Given the description of an element on the screen output the (x, y) to click on. 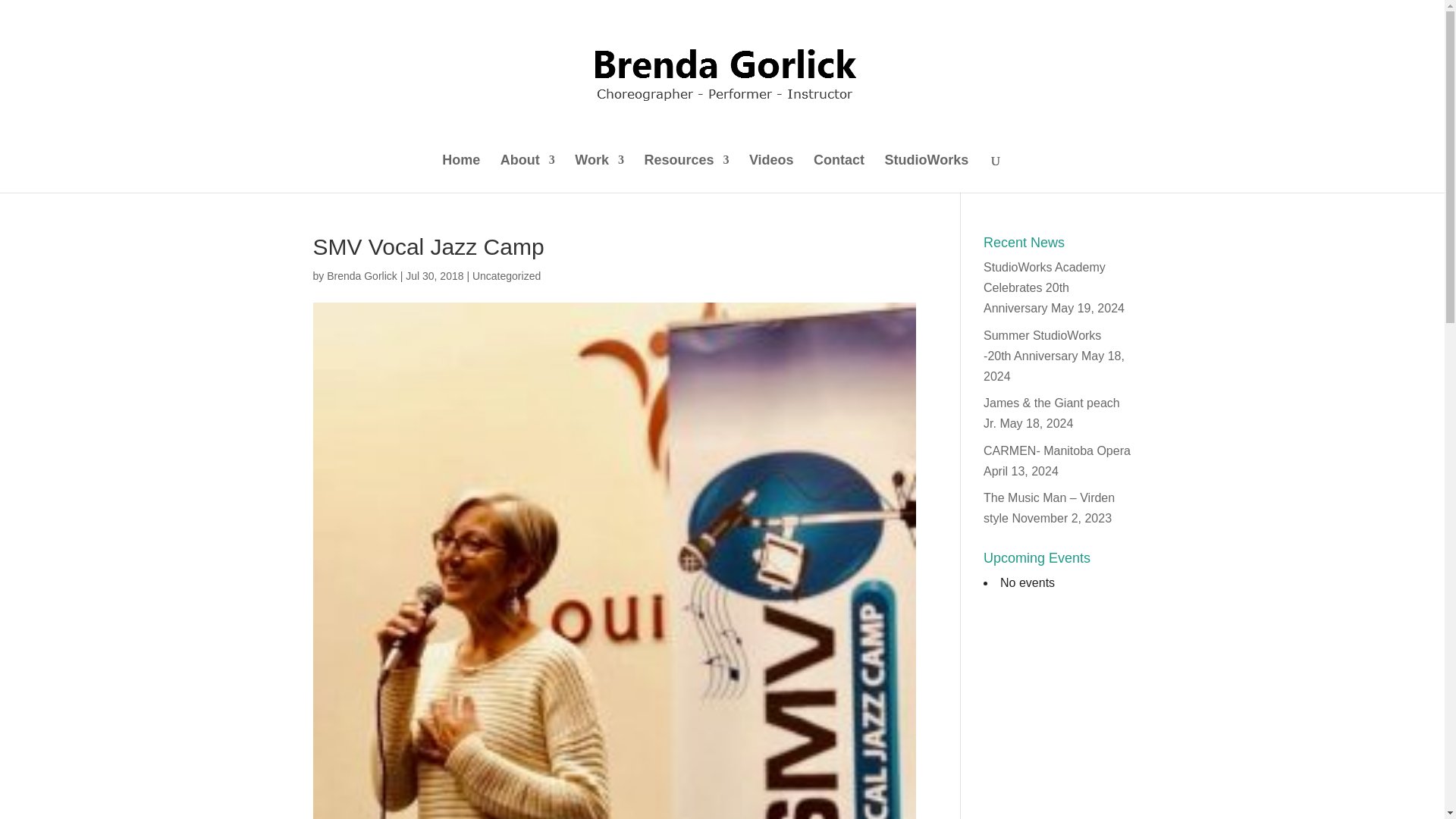
Brenda Gorlick (361, 275)
Home (461, 173)
StudioWorks (927, 173)
Uncategorized (505, 275)
StudioWorks Academy Celebrates 20th Anniversary (1044, 287)
About (527, 173)
Contact (838, 173)
Posts by Brenda Gorlick (361, 275)
Resources (686, 173)
Videos (771, 173)
Summer StudioWorks -20th Anniversary (1042, 345)
Work (599, 173)
